Given the description of an element on the screen output the (x, y) to click on. 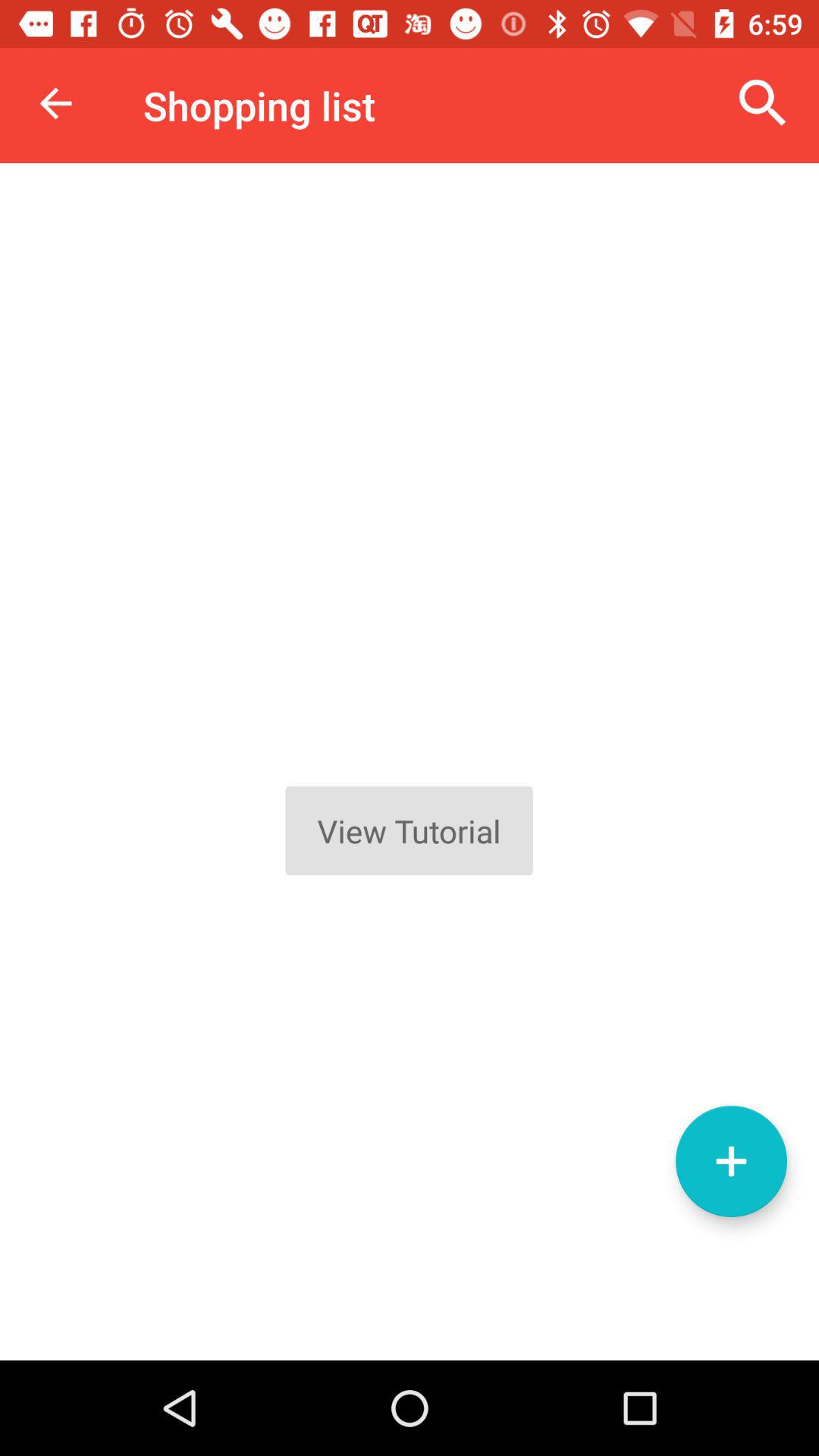
add item (731, 1161)
